Given the description of an element on the screen output the (x, y) to click on. 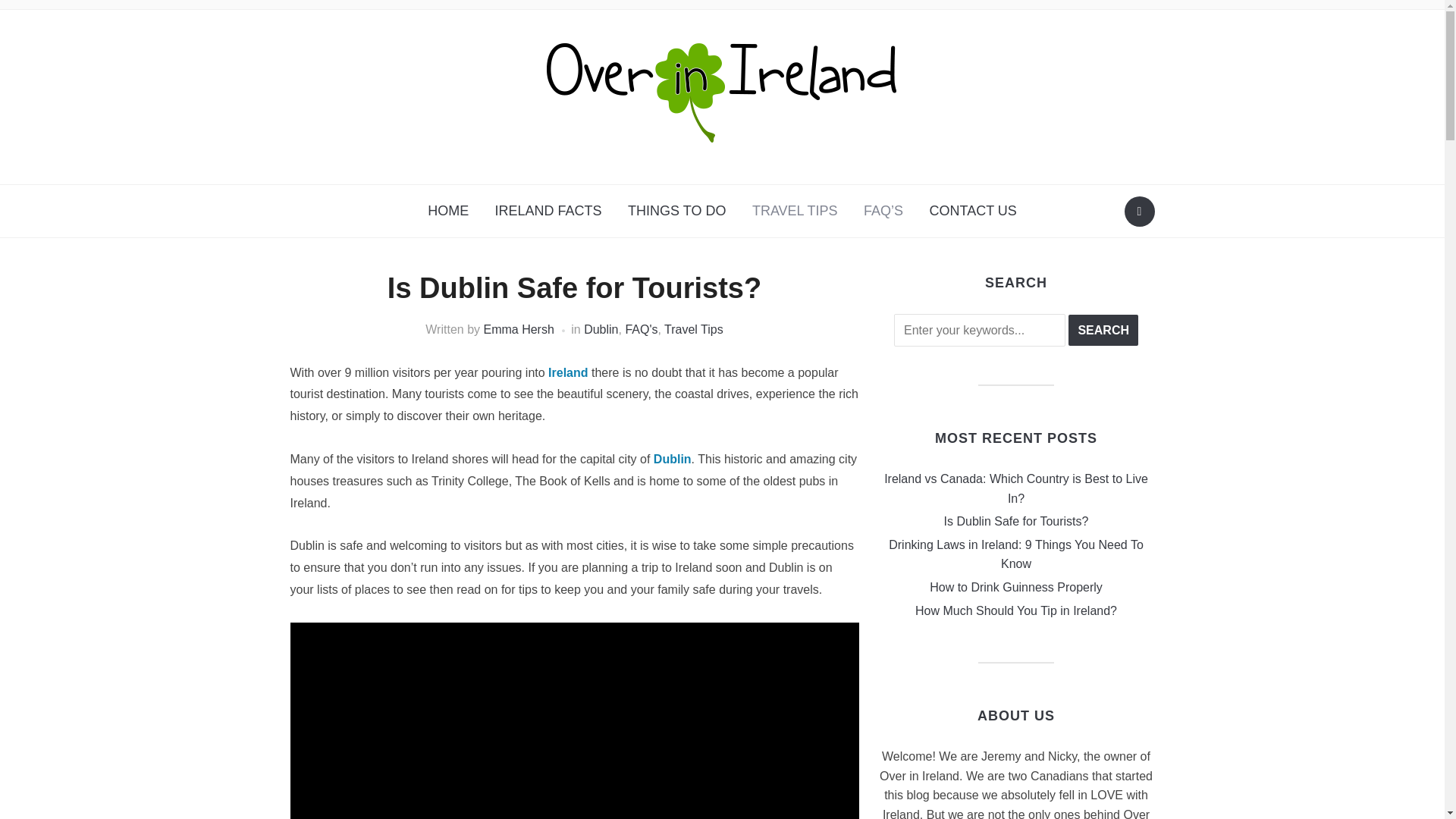
TRAVEL TIPS (794, 211)
Search (1103, 330)
Travel Tips (693, 328)
HOME (448, 211)
Search (1139, 211)
IRELAND FACTS (547, 211)
FAQ's (641, 328)
Ireland (568, 372)
Search (1103, 330)
Emma Hersh (518, 328)
THINGS TO DO (675, 211)
Posts by Emma Hersh (518, 328)
Dublin (600, 328)
CONTACT US (972, 211)
